Given the description of an element on the screen output the (x, y) to click on. 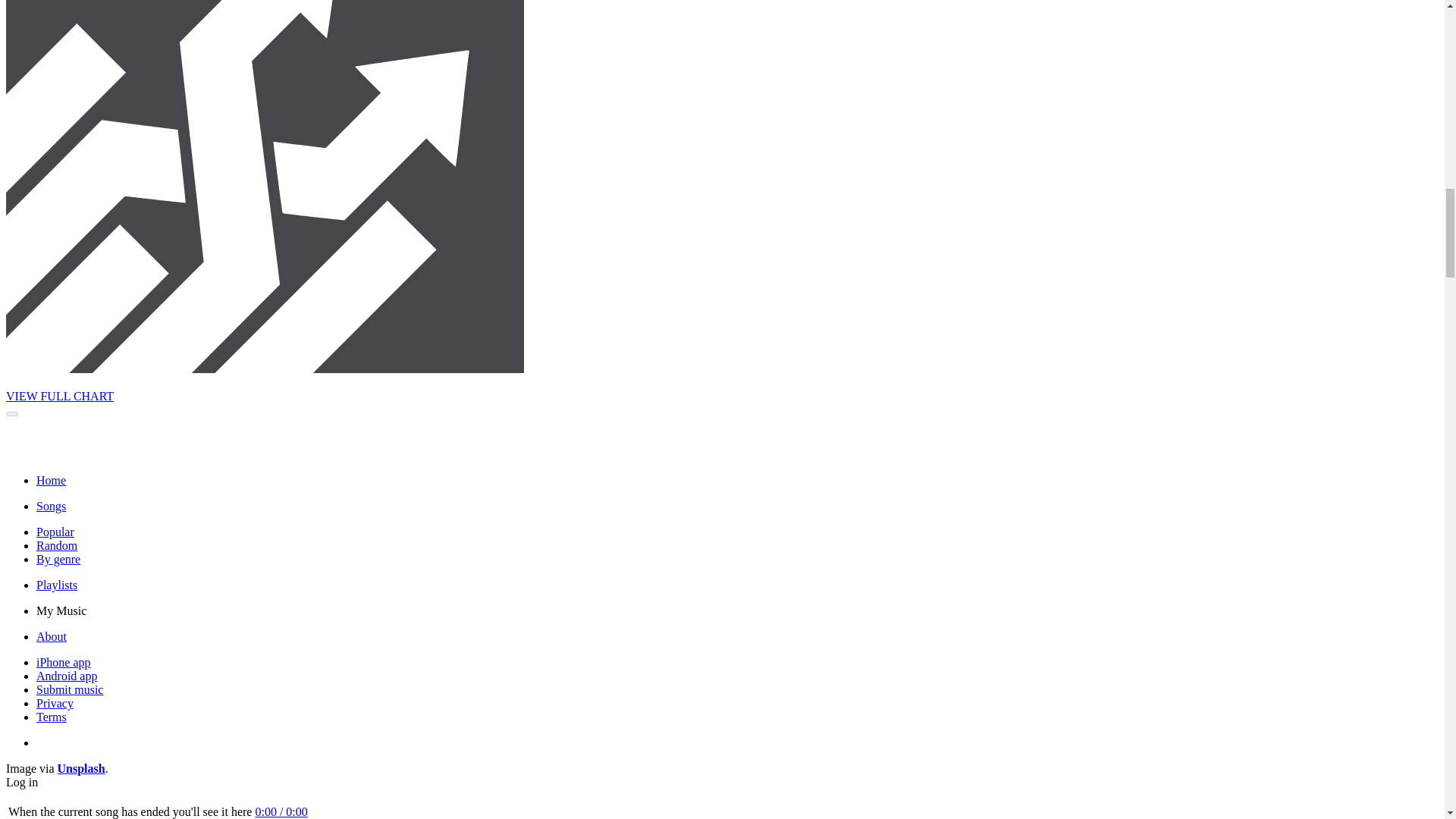
Playlists (56, 584)
My Music (60, 610)
Submit music (69, 689)
Homepage (50, 480)
Songs (50, 505)
Submit Music (69, 689)
Log in (21, 781)
Terms (51, 716)
Popular Songs (55, 531)
Indie Genres (58, 558)
About (51, 635)
Download iPhone App (63, 662)
Popular (55, 531)
Home (50, 480)
About (51, 635)
